Given the description of an element on the screen output the (x, y) to click on. 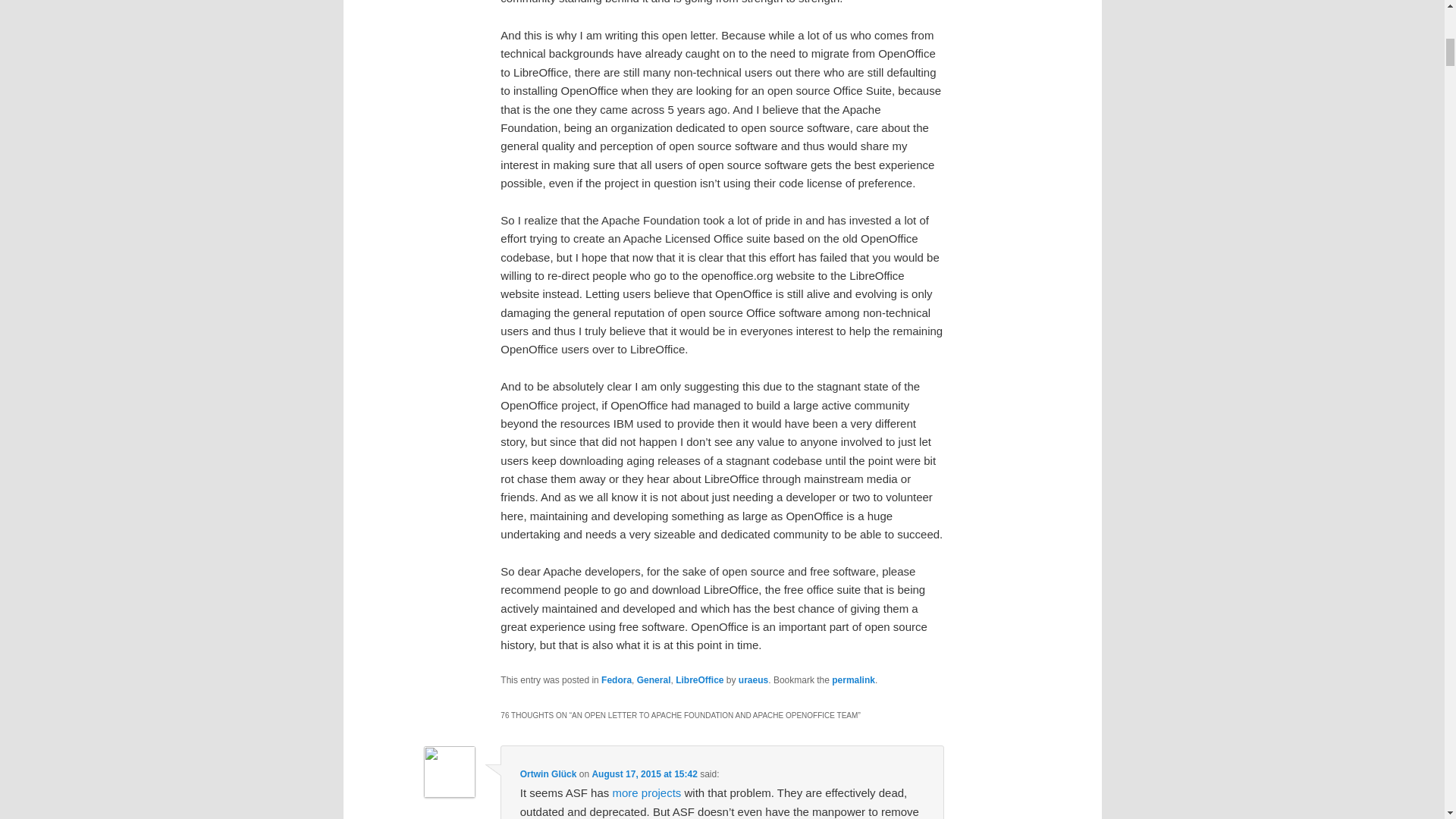
August 17, 2015 at 15:42 (644, 774)
permalink (853, 679)
more projects (646, 792)
General (654, 679)
uraeus (753, 679)
LibreOffice (699, 679)
Fedora (616, 679)
